Given the description of an element on the screen output the (x, y) to click on. 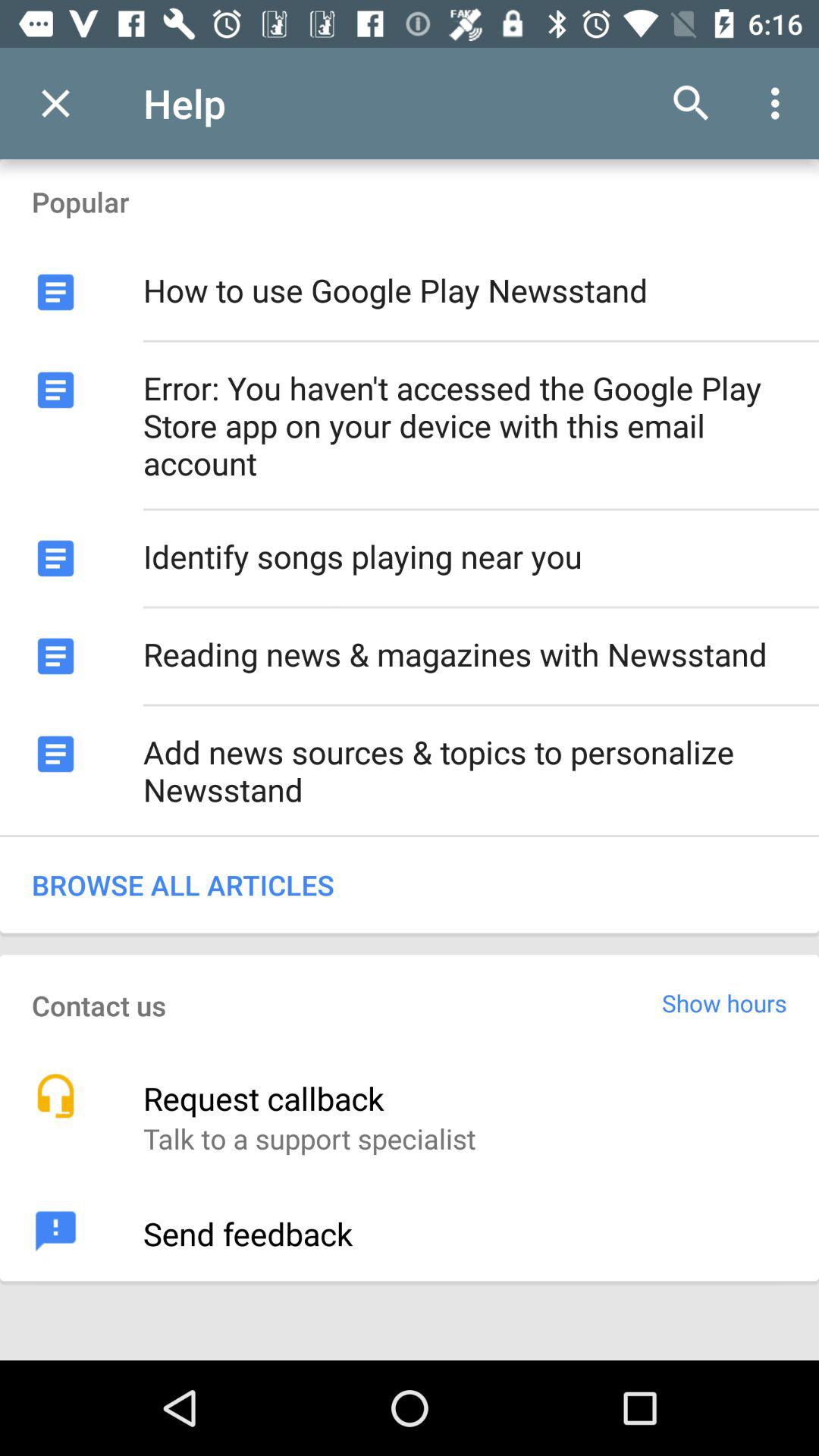
click the item to the left of help (55, 103)
